Given the description of an element on the screen output the (x, y) to click on. 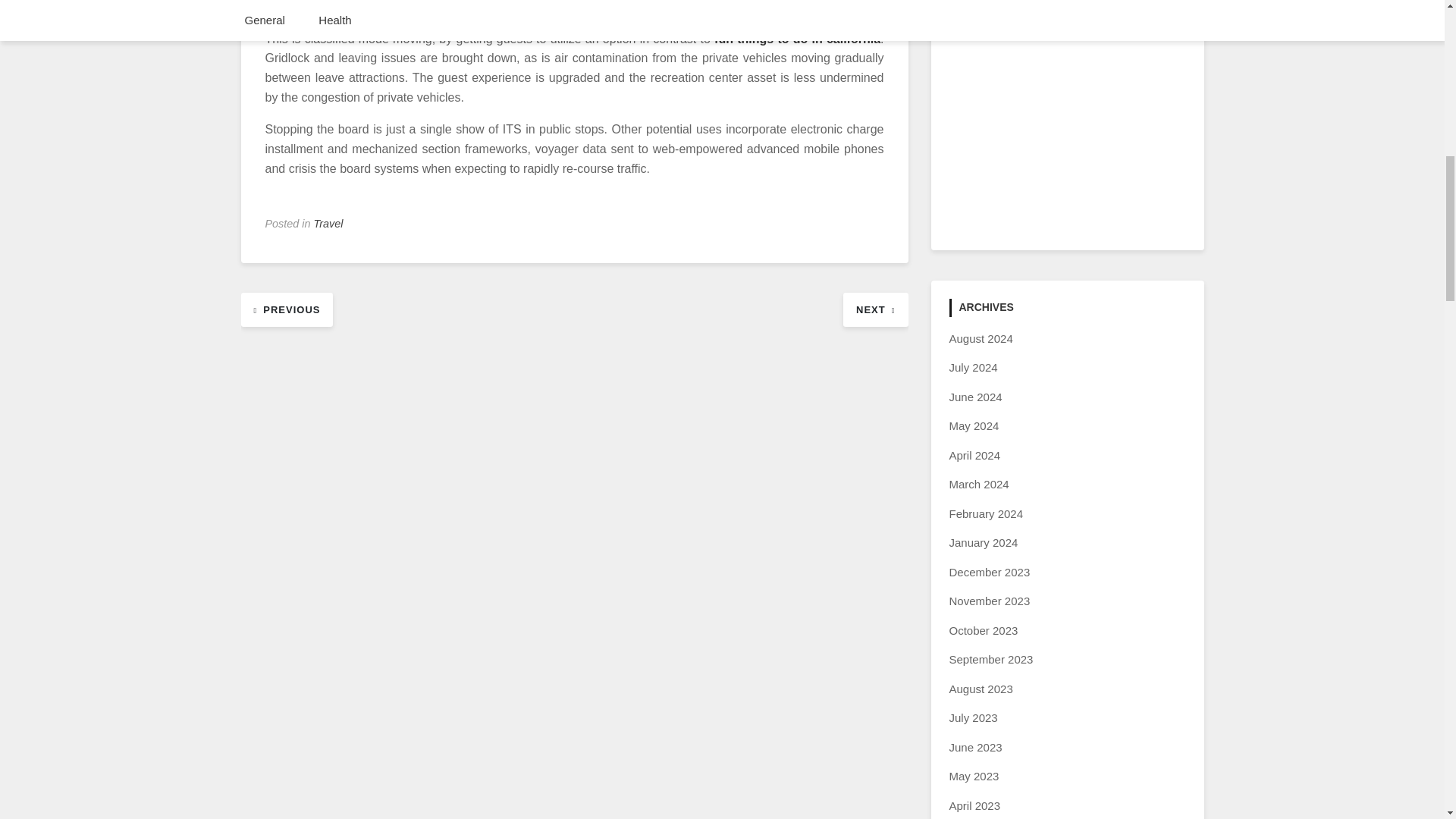
May 2024 (973, 425)
August 2024 (981, 338)
fun things to do in california (797, 38)
PREVIOUS (287, 308)
July 2023 (973, 717)
Travel (328, 223)
November 2023 (989, 600)
NEXT (875, 308)
June 2023 (976, 747)
April 2023 (975, 805)
